Given the description of an element on the screen output the (x, y) to click on. 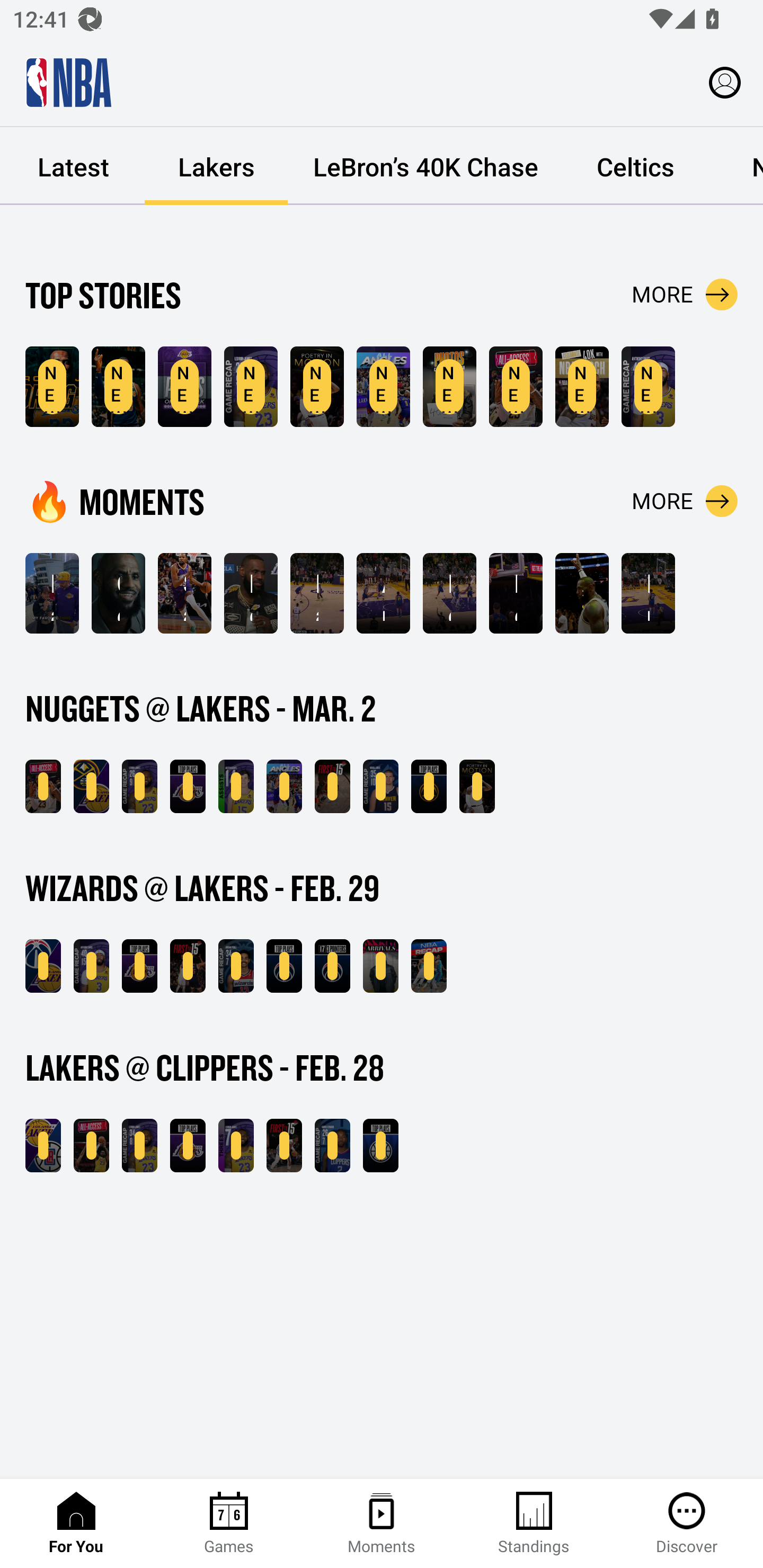
Profile (724, 81)
Latest (72, 166)
LeBron’s 40K Chase (425, 166)
Celtics (634, 166)
MORE (684, 294)
NEW LeBron Tracker: Lakers star reaches 40,000 (51, 386)
NEW Milestone Baskets From LeBron's Career (117, 386)
NEW LAL's Top Plays of Week 19 (184, 386)
NEW Highlights From LeBron James' 26-Point Game (250, 386)
NEW LeBron's Historic Night In Slo-Mo 🎥 (317, 386)
All Angles Of LeBron's Historic Shot 👀 NEW (383, 386)
Scenes From LeBron's 40K Night 📸 NEW (449, 386)
Inside LeBron's 40K Milestone On ABC 🎥 NEW (515, 386)
Shop LeBron Merch Now 👑🛒 NEW (581, 386)
Highlights From Anthony Davis' 40-Point Game NEW (648, 386)
MORE (684, 500)
Saturday's Top Plays In 30 Seconds ⏱ (184, 593)
Radio Call Of The Lebron Bucket For 40K 📻 (317, 593)
Austin Reaves with the assist (383, 593)
LeBron James hits from way downtown (449, 593)
LeBron James with the hoop & harm (515, 593)
👏👑🙌 (581, 593)
Dunk by Jaxson Hayes (648, 593)
NEW Inside LeBron's 40K Milestone On ABC 🎥 (43, 785)
NEW DEN 124, LAL 114 - Mar 2 (91, 785)
NEW Highlights From LeBron James' 26-Point Game (139, 785)
NEW LAL's Top Plays from DEN vs. LAL (187, 785)
NEW Highlights From Austin Reaves' 14-Assist Game (236, 785)
All Angles Of LeBron's Historic Shot 👀 NEW (284, 785)
First To 15 Mar. 2nd NEW (332, 785)
Highlights From Nikola Jokic's 35-Point Game NEW (380, 785)
DEN's Top Plays from DEN vs. LAL NEW (428, 785)
LeBron's Historic Night In Slo-Mo 🎥 NEW (477, 785)
NEW LAL 134, WAS 131 - Feb 29 (43, 965)
NEW Highlights From Anthony Davis' 40-Point Game (91, 965)
NEW LAL's Top Plays from WAS vs. LAL (139, 965)
NEW First To 15: Feb. 29th (187, 965)
NEW Highlights From Jordan Poole's 34-Point Game (236, 965)
WAS' Top Plays from WAS vs. LAL NEW (284, 965)
All 3's from WAS' 17 3-Pointer Night NEW (332, 965)
Thursday Night's Arrivals 🔥 NEW (380, 965)
Thursday's Recap NEW (428, 965)
NEW LAL 116, LAC 112 - Feb 28 (43, 1145)
NEW LeBron Takes Over In The Battle Of LA (91, 1145)
NEW Highlights From LeBron James's 34-Point Game (139, 1145)
NEW LAL's Top Plays from LAL vs. LAC (187, 1145)
First To 15: Feb. 28th NEW (284, 1145)
Highlights From Kawhi Leonard's 26-Point Game NEW (332, 1145)
LAC's Top Plays from LAL vs. LAC NEW (380, 1145)
Games (228, 1523)
Moments (381, 1523)
Standings (533, 1523)
Discover (686, 1523)
